Given the description of an element on the screen output the (x, y) to click on. 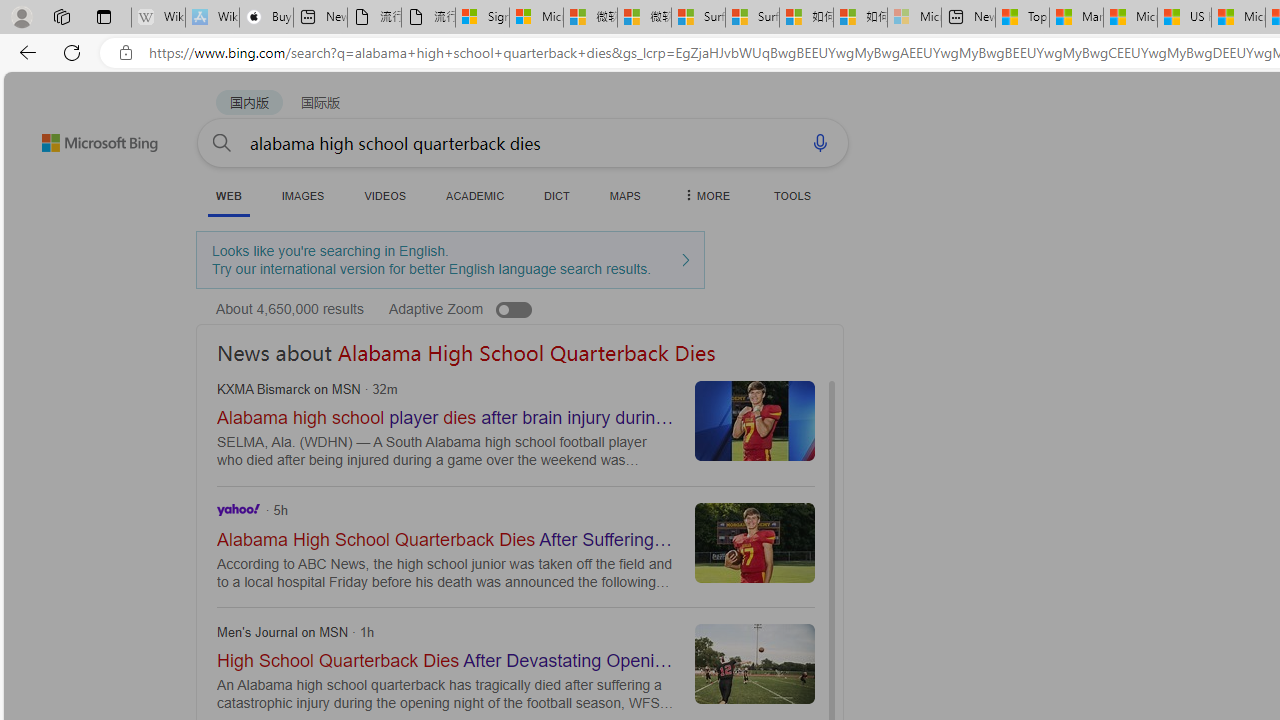
Microsoft account | Account Checkup - Sleeping (914, 17)
Sign in to your Microsoft account (482, 17)
US Heat Deaths Soared To Record High Last Year (1184, 17)
Buy iPad - Apple (266, 17)
Marine life - MSN (1076, 17)
Wikipedia - Sleeping (158, 17)
Top Stories - MSN (1022, 17)
